Given the description of an element on the screen output the (x, y) to click on. 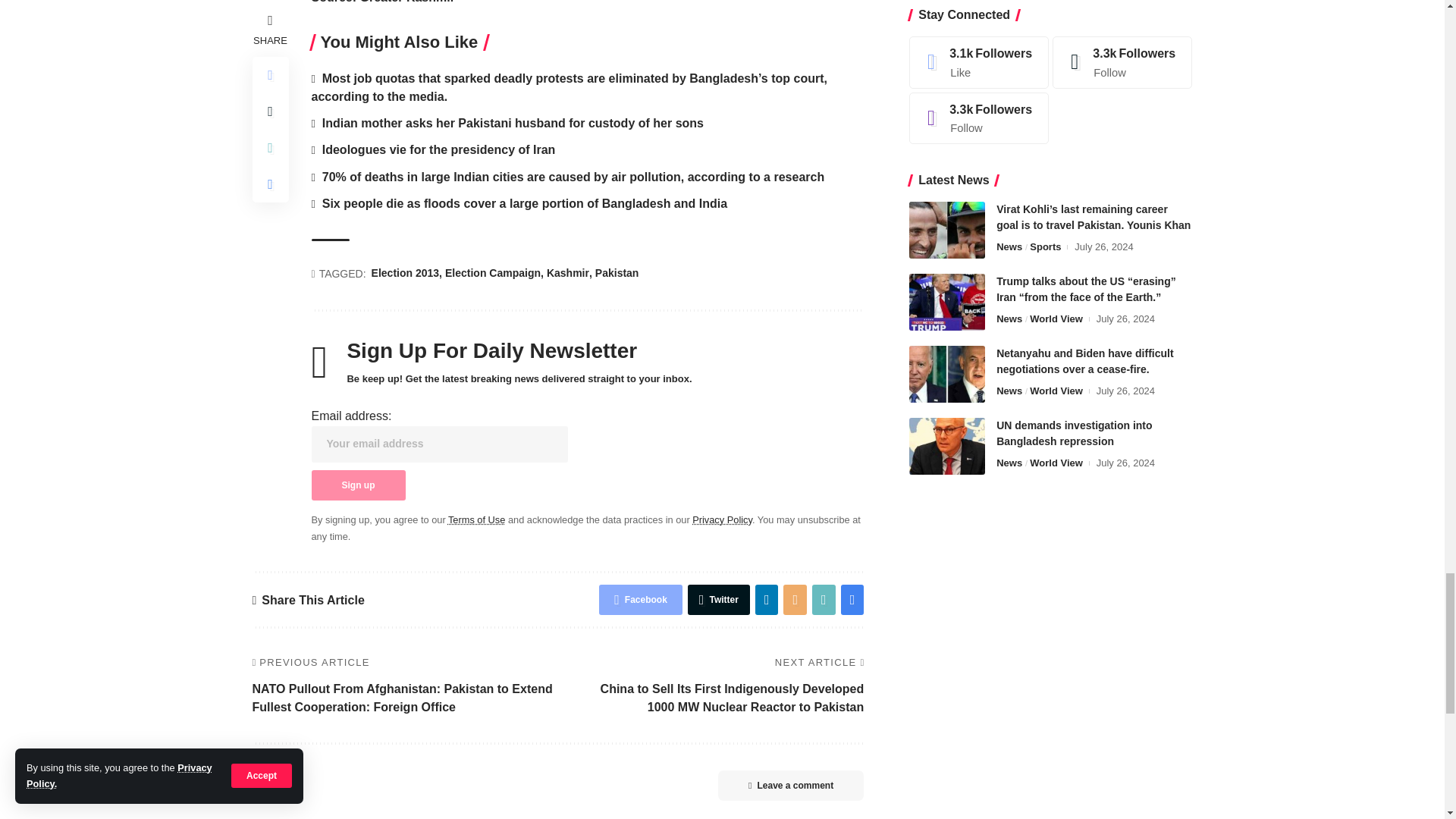
Sign up (357, 485)
